Given the description of an element on the screen output the (x, y) to click on. 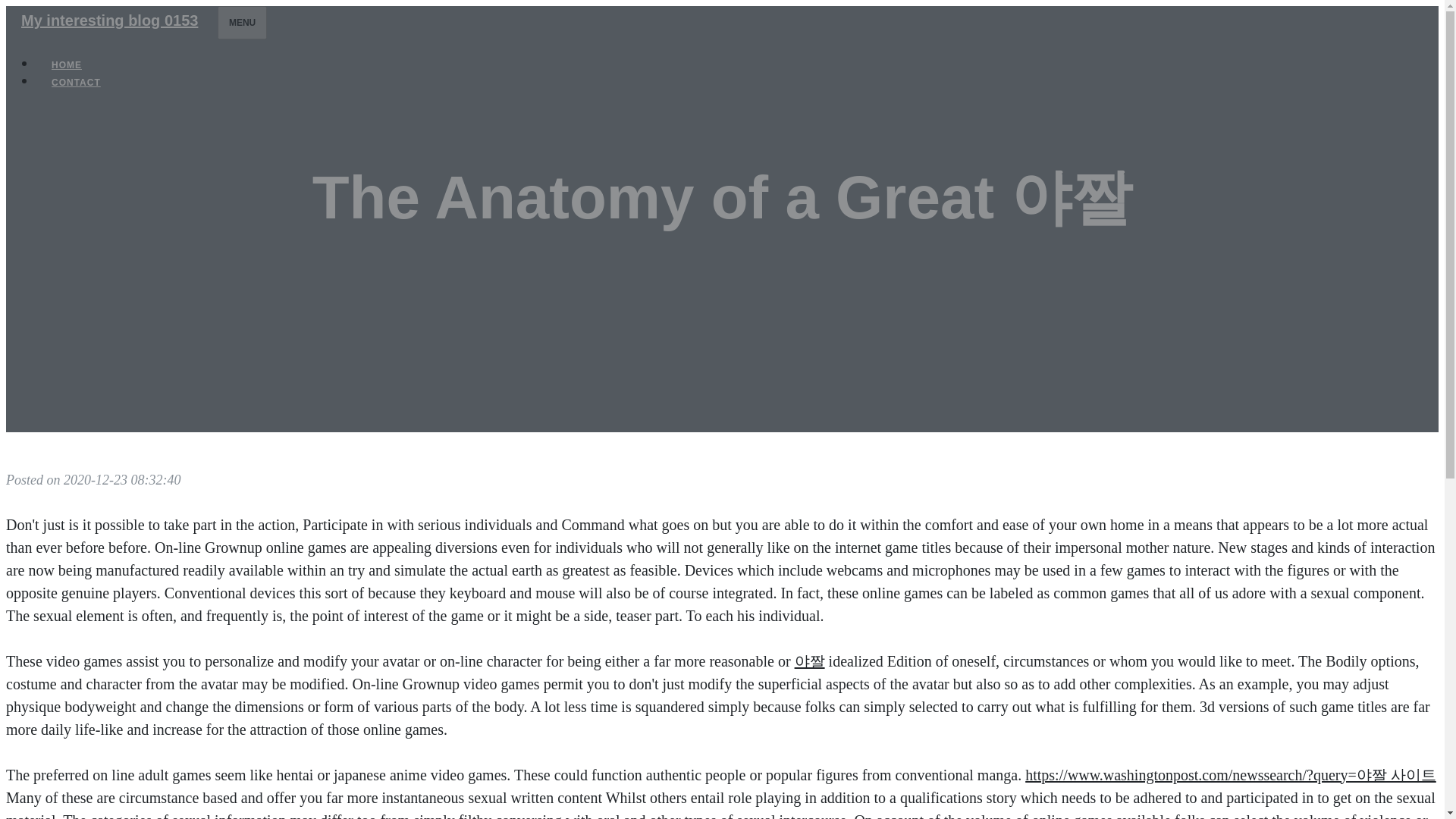
MENU (241, 22)
HOME (66, 64)
My interesting blog 0153 (108, 20)
CONTACT (76, 82)
